Given the description of an element on the screen output the (x, y) to click on. 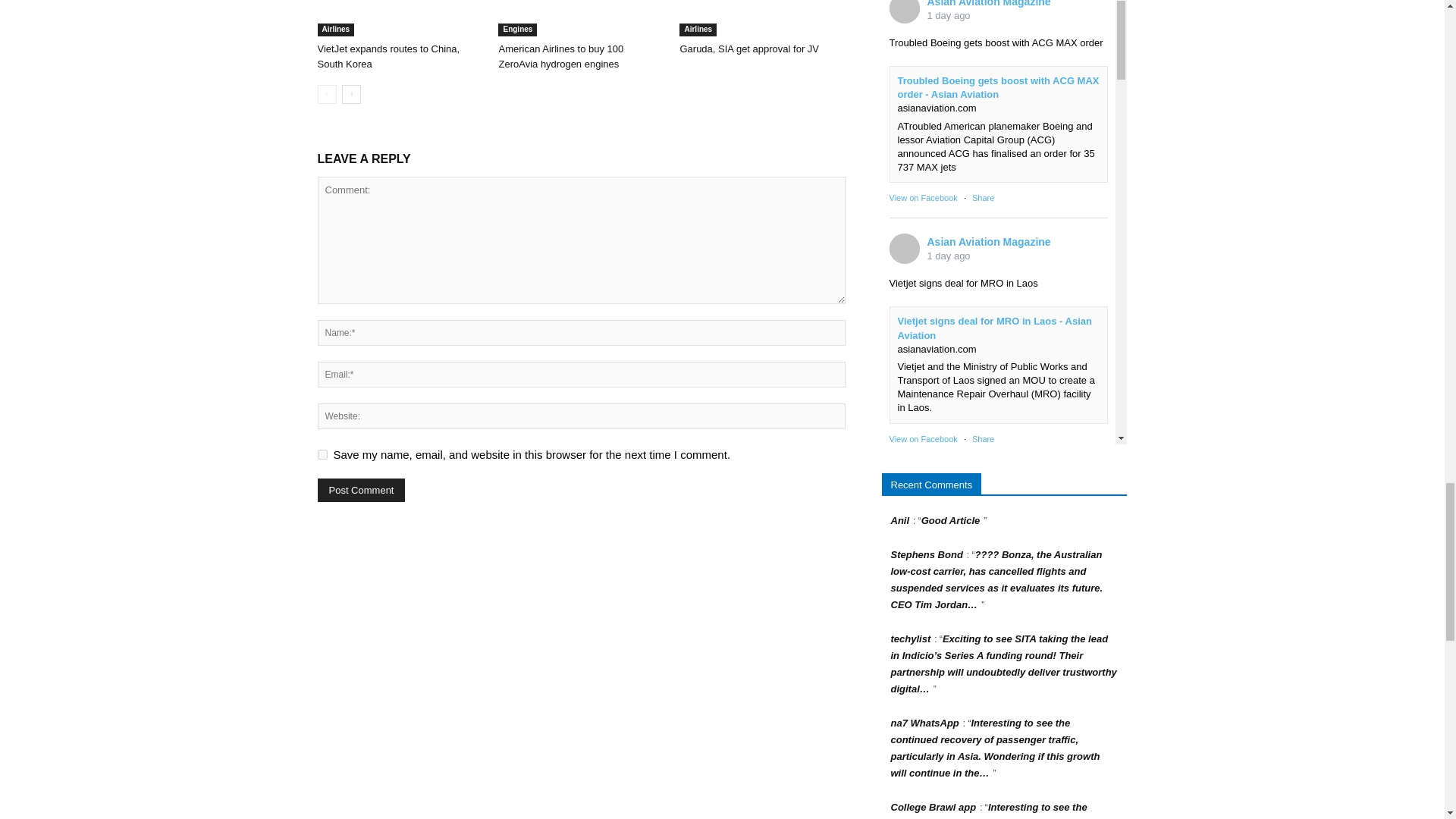
yes (321, 454)
Post Comment (360, 490)
